Given the description of an element on the screen output the (x, y) to click on. 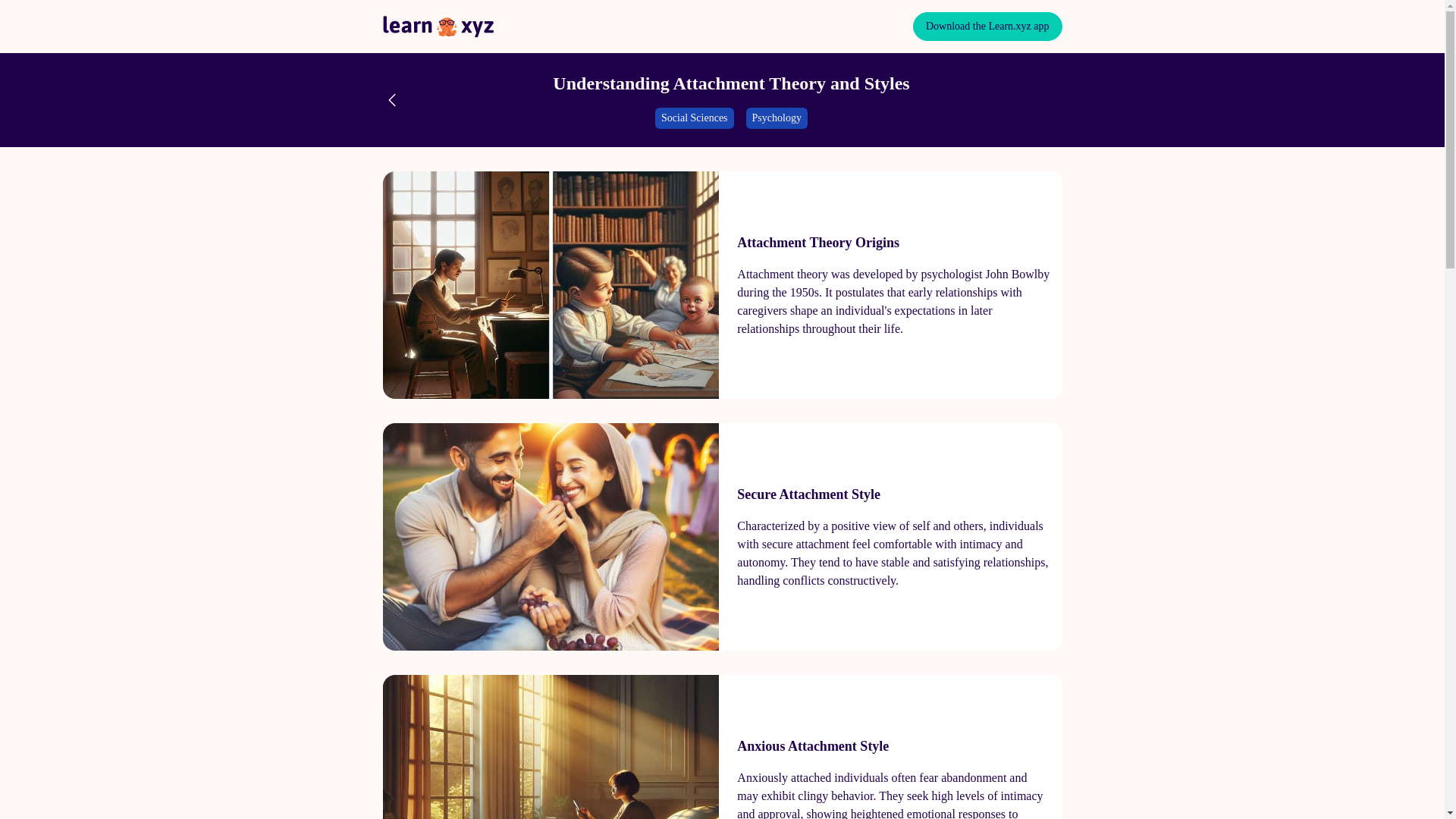
Social Sciences (694, 117)
Psychology (776, 117)
Download the Learn.xyz app (987, 26)
